Given the description of an element on the screen output the (x, y) to click on. 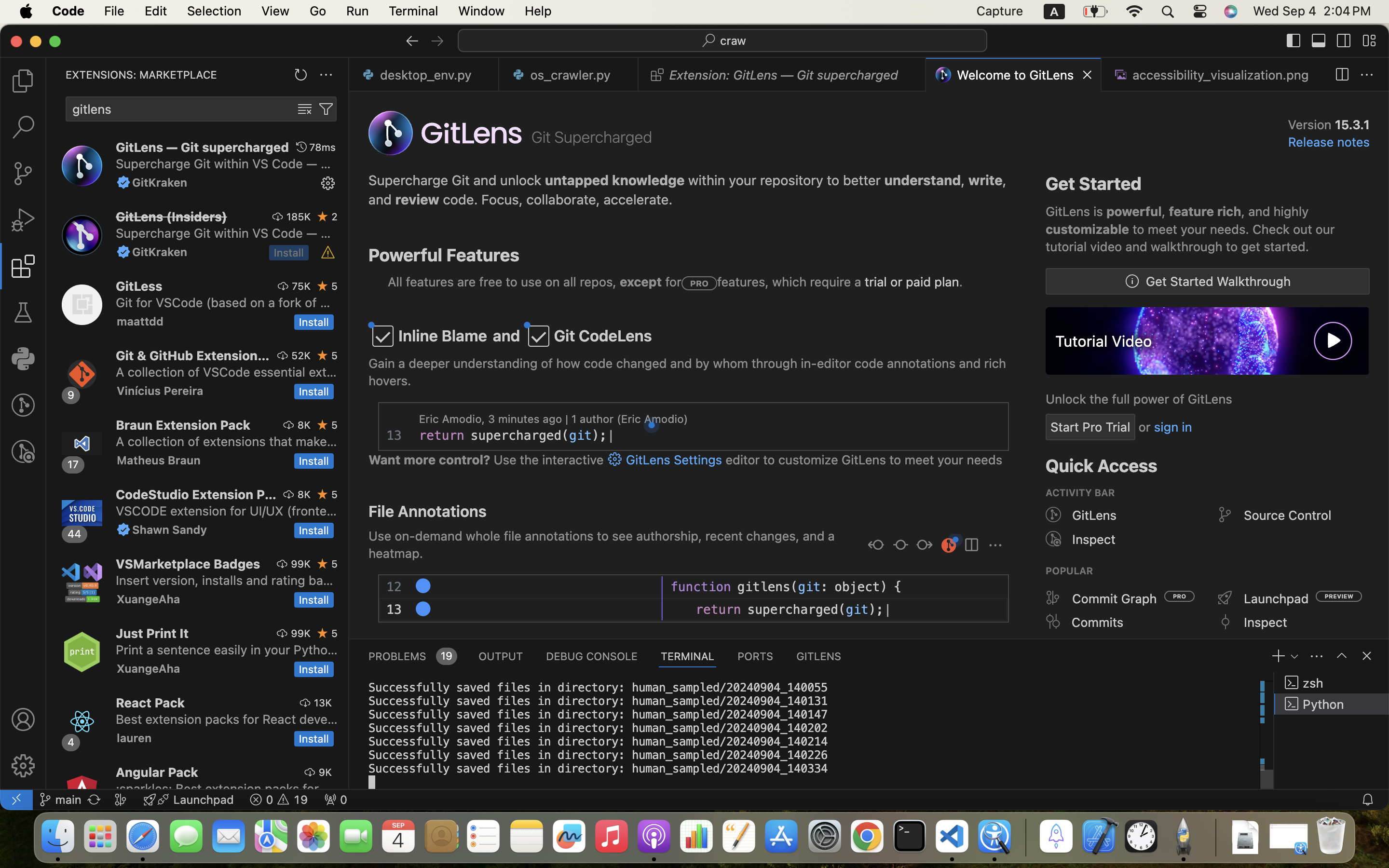
 Element type: AXStaticText (322, 285)
Extension: GitLens — Git supercharged Element type: AXStaticText (783, 74)
Matheus Braun Element type: AXStaticText (158, 459)
Get Started Element type: AXStaticText (1093, 183)
52K Element type: AXStaticText (300, 355)
